Given the description of an element on the screen output the (x, y) to click on. 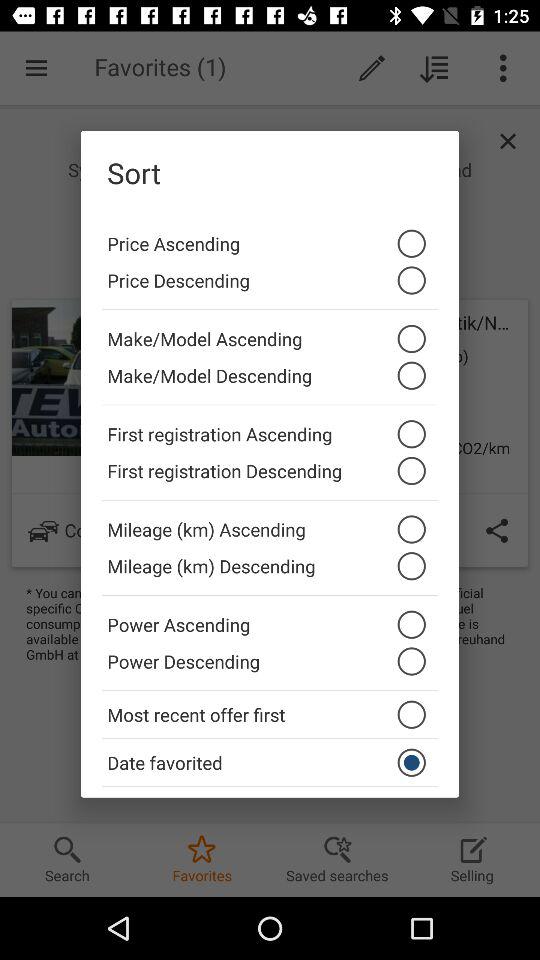
launch the icon above the price descending item (269, 238)
